Given the description of an element on the screen output the (x, y) to click on. 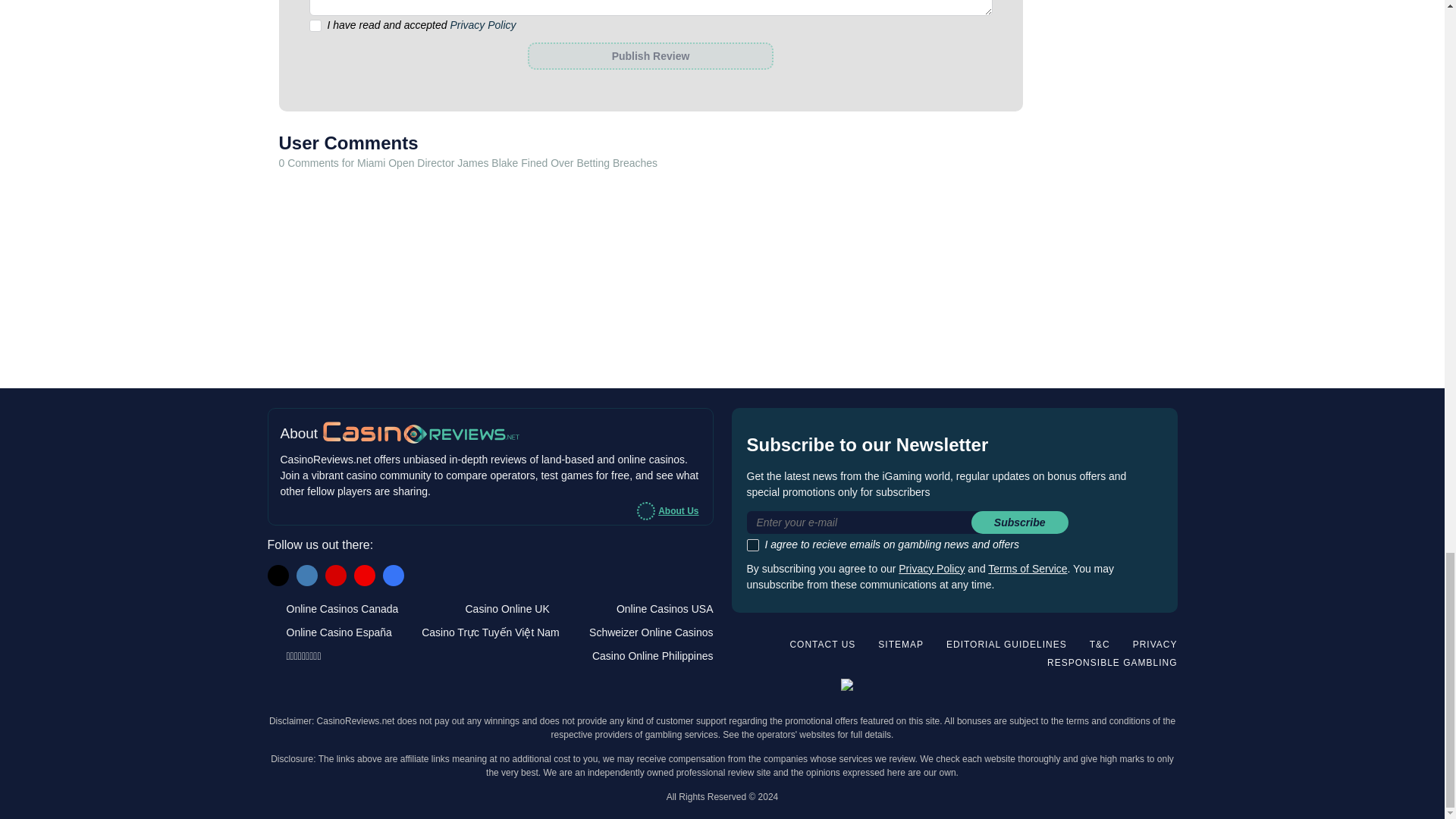
Publish Review (650, 55)
Subscribe (1019, 522)
DMCA.com Protection Status (1126, 687)
